Given the description of an element on the screen output the (x, y) to click on. 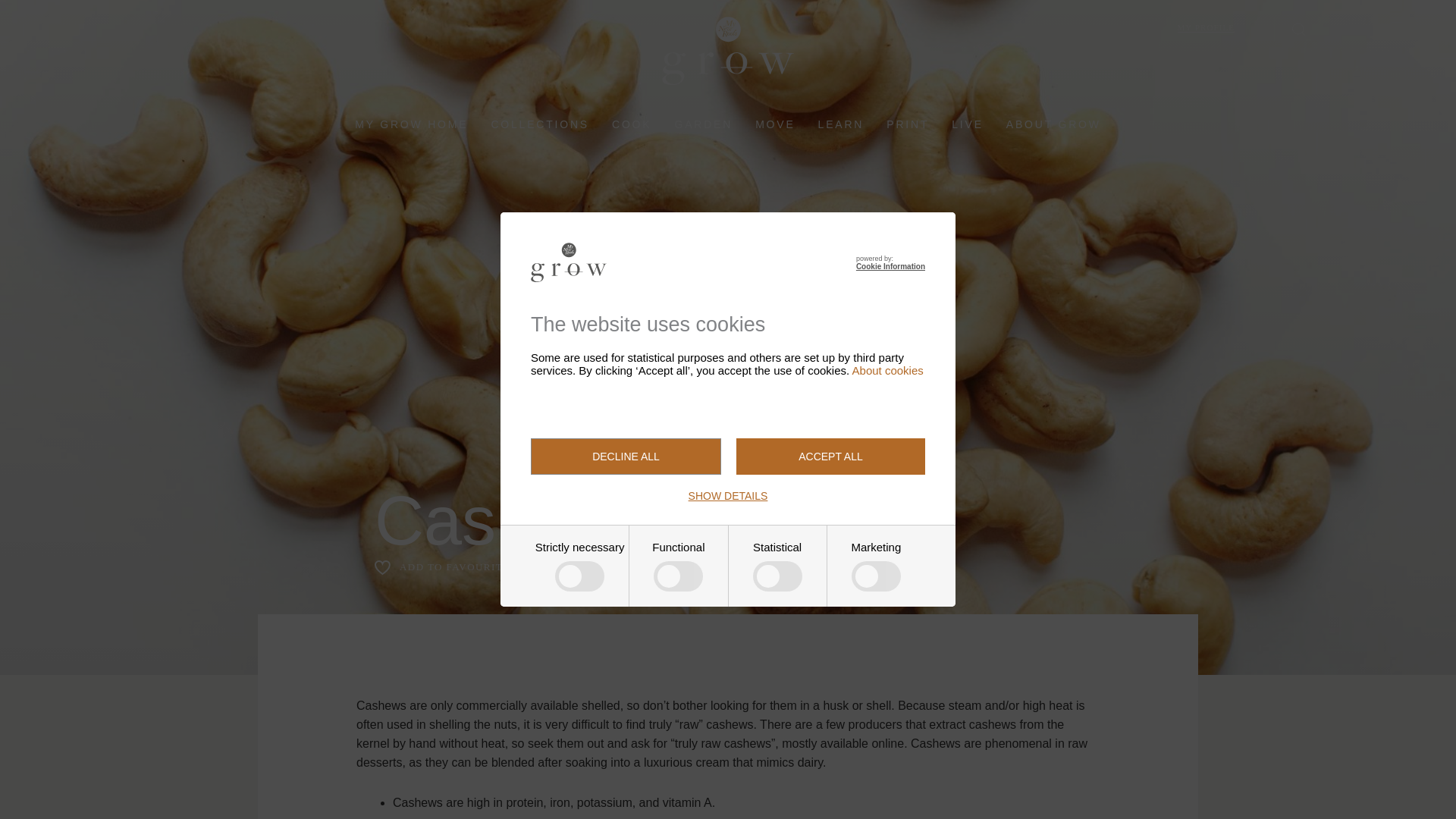
SHOW DETAILS (728, 495)
About cookies (887, 369)
ACCEPT ALL (830, 456)
DECLINE ALL (625, 456)
Cookie Information (890, 266)
